Given the description of an element on the screen output the (x, y) to click on. 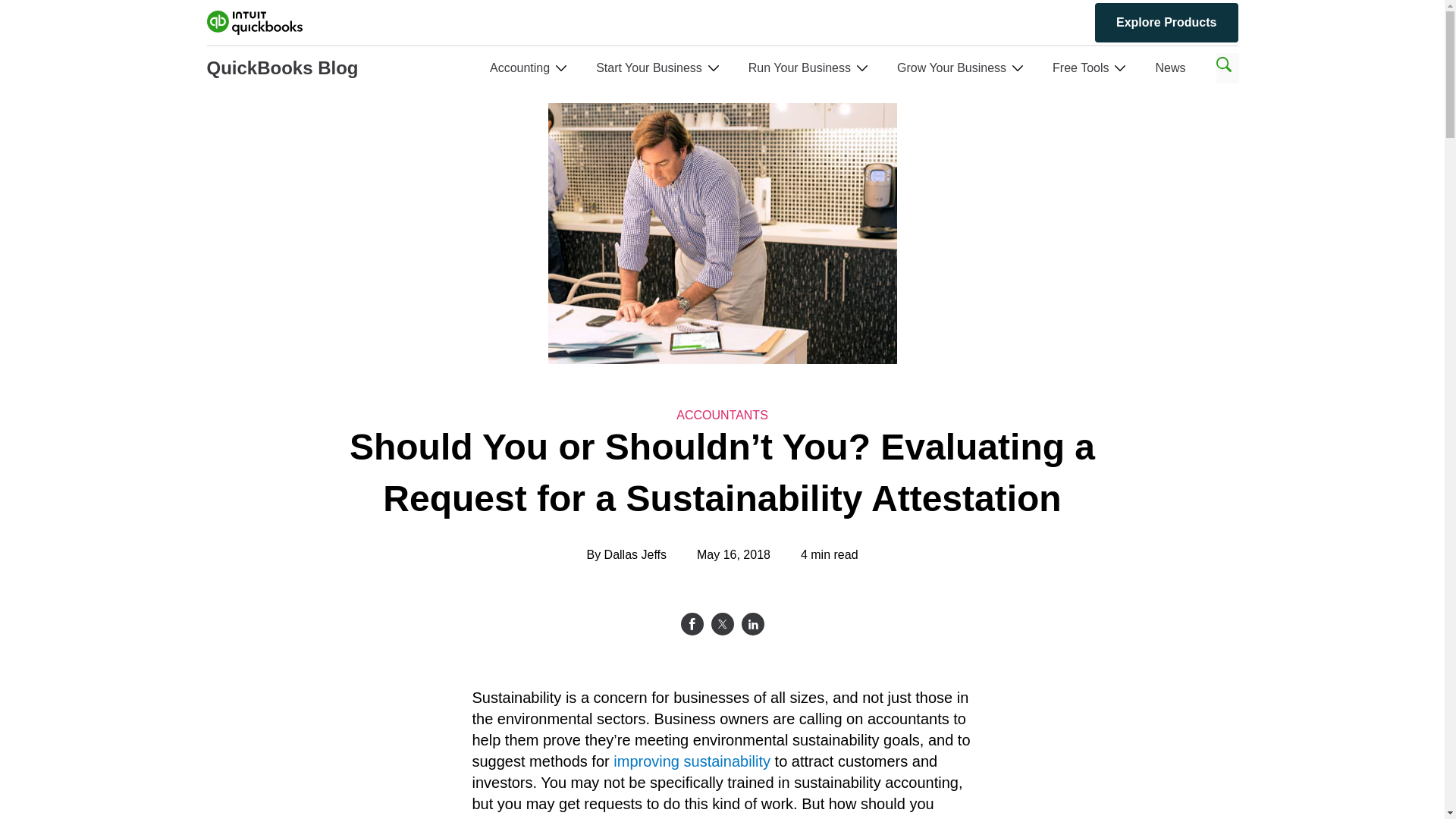
Share on LinkedIn (752, 623)
Explore Products (1165, 22)
Share on Twitter (722, 623)
Share on Facebook (692, 623)
Start Your Business (648, 67)
Run Your Business (799, 67)
QuickBooks Blog (282, 67)
Accounting (519, 67)
